Given the description of an element on the screen output the (x, y) to click on. 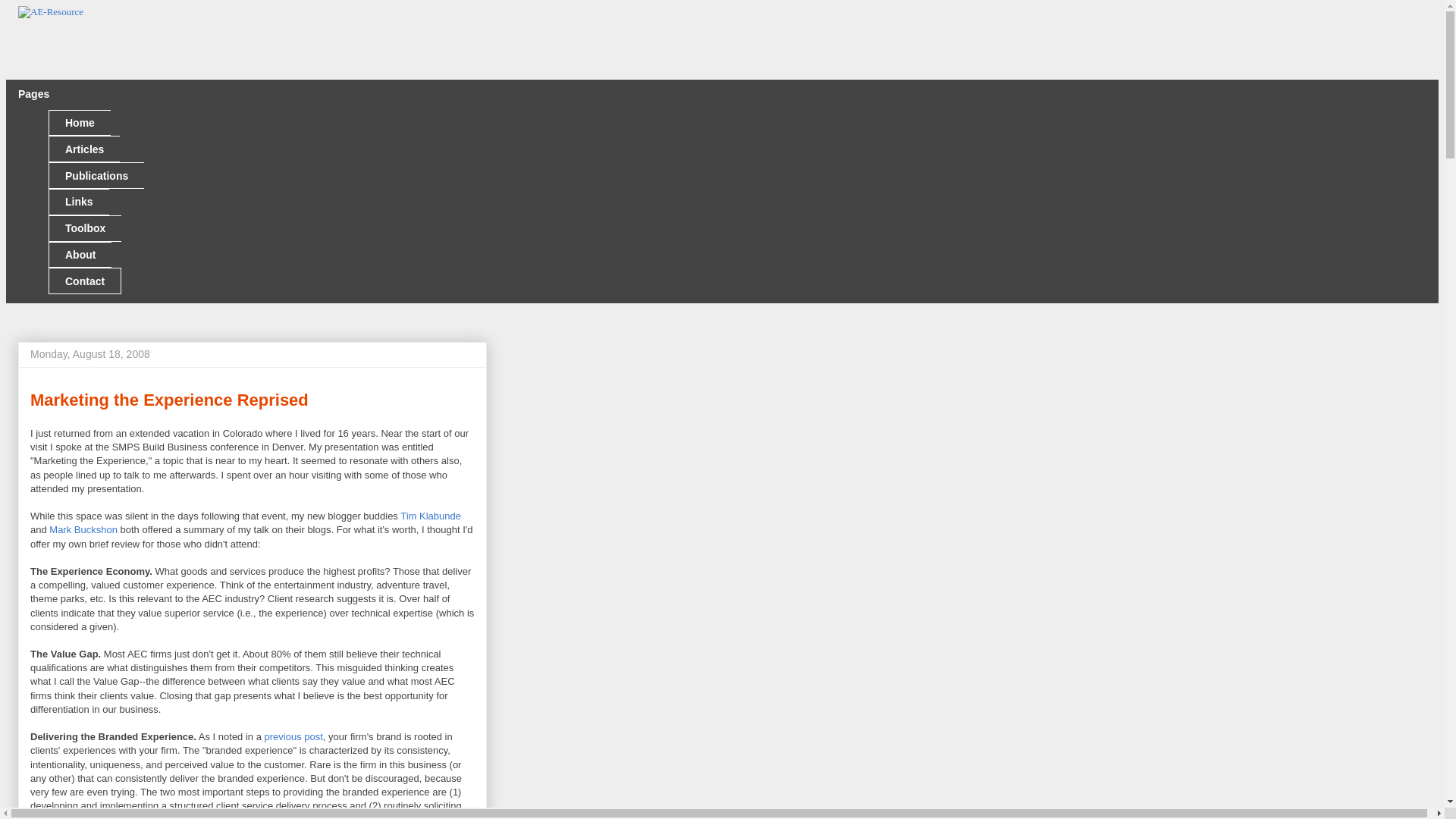
Toolbox (84, 228)
Links (78, 202)
About (80, 254)
Publications (96, 175)
Articles (83, 148)
Tim Klabunde (430, 515)
Home (79, 122)
previous post (293, 736)
Contact (84, 280)
Mark Buckshon (83, 529)
